Given the description of an element on the screen output the (x, y) to click on. 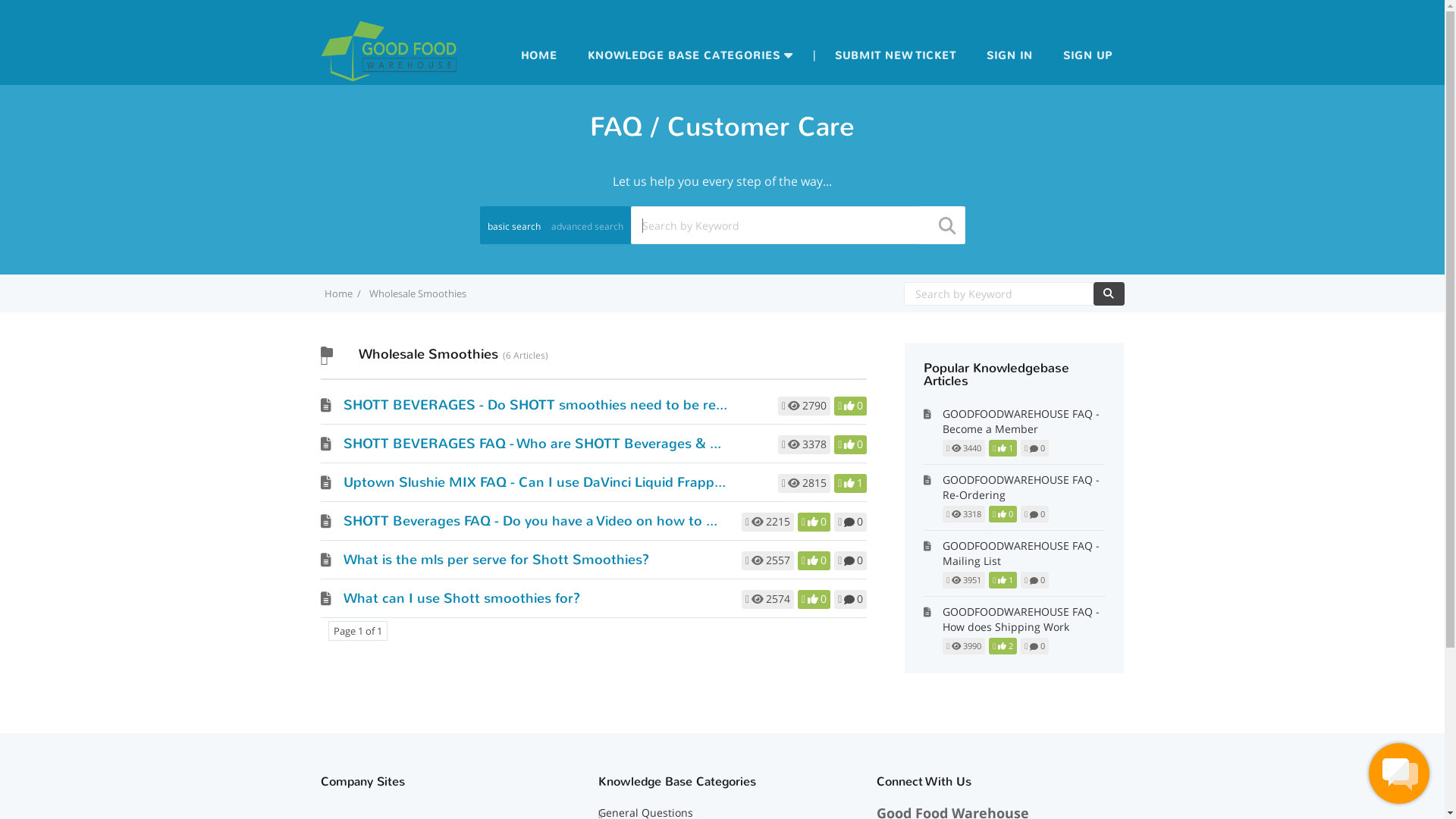
SIGN UP Element type: text (1087, 55)
GOODFOODWAREHOUSE FAQ - Mailing List Element type: text (1023, 553)
basic search Element type: text (512, 234)
SIGN IN Element type: text (1009, 55)
Page 1 of 1 Element type: text (356, 630)
Search by Keyword button Element type: hover (1108, 293)
Toggle dropdown menu Element type: hover (788, 53)
Home Element type: text (338, 293)
KNOWLEDGE BASE CATEGORIES Element type: text (683, 55)
SUBMIT NEW TICKET Element type: text (895, 55)
Live Chat Button Element type: hover (1398, 773)
Good Food Warehouse Element type: hover (388, 82)
Search by Keyword Element type: hover (797, 225)
advanced search Element type: text (586, 234)
Wholesale Smoothies Element type: text (416, 293)
GOODFOODWAREHOUSE FAQ - How does Shipping Work Element type: text (1023, 619)
Search Icon Element type: hover (1108, 293)
HOME Element type: text (538, 55)
Search by Keyword button Element type: hover (1108, 293)
GOODFOODWAREHOUSE FAQ - Re-Ordering Element type: text (1023, 487)
Search Icon Element type: hover (946, 224)
Search by Keyword Element type: hover (1013, 293)
Search button Element type: hover (941, 225)
GOODFOODWAREHOUSE FAQ - Become a Member Element type: text (1023, 421)
What is the mls per serve for Shott Smoothies? Element type: text (495, 559)
What can I use Shott smoothies for? Element type: text (460, 598)
